Given the description of an element on the screen output the (x, y) to click on. 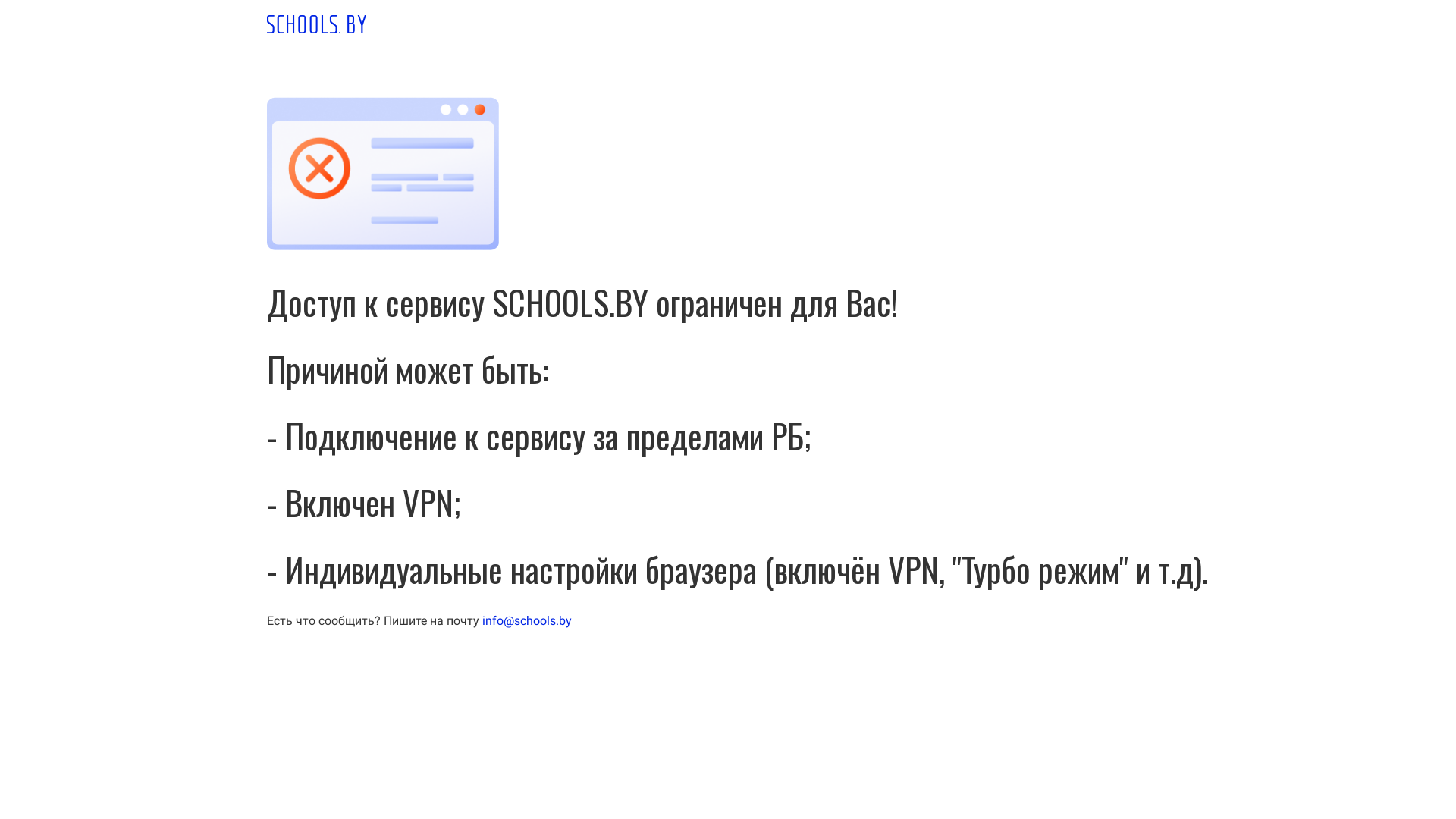
info@schools.by Element type: text (526, 620)
